Given the description of an element on the screen output the (x, y) to click on. 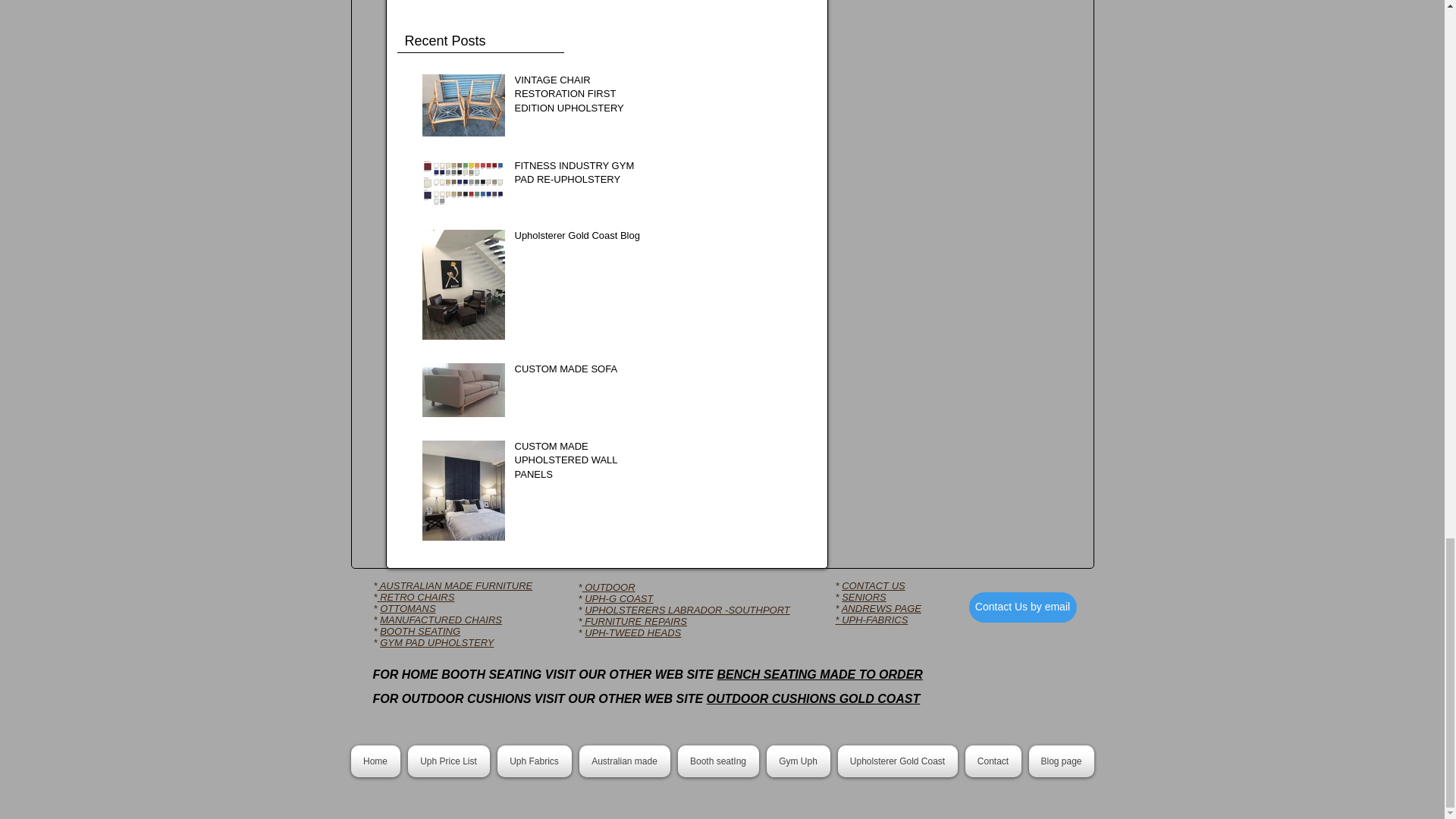
FITNESS INDUSTRY GYM PAD RE-UPHOLSTERY (579, 175)
VINTAGE CHAIR RESTORATION FIRST EDITION UPHOLSTERY (579, 97)
Upholsterer Gold Coast Blog (579, 238)
